Given the description of an element on the screen output the (x, y) to click on. 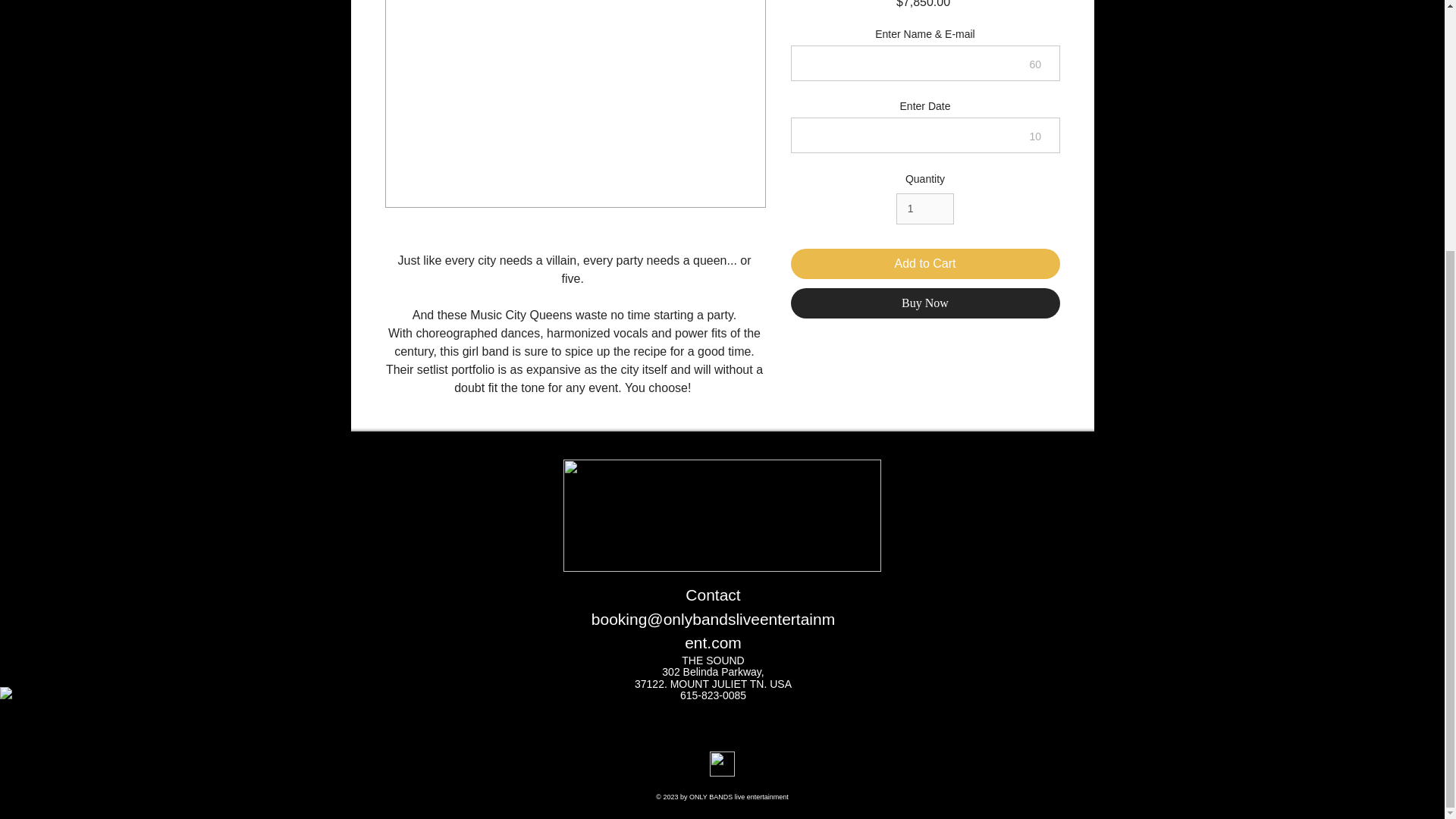
Add to Cart (924, 263)
Buy Now (924, 303)
1 (924, 208)
